Given the description of an element on the screen output the (x, y) to click on. 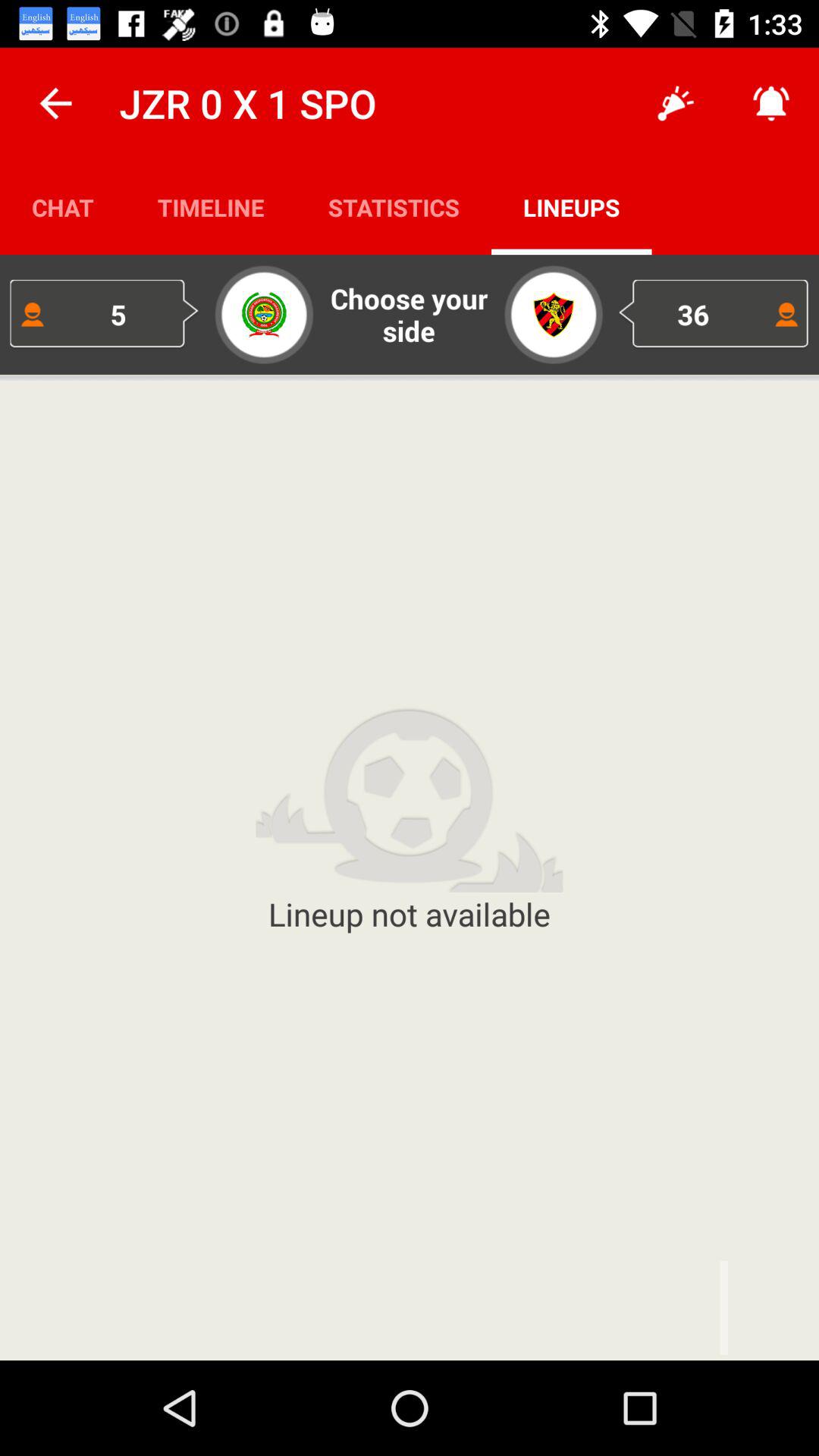
press icon above the chat item (55, 103)
